Given the description of an element on the screen output the (x, y) to click on. 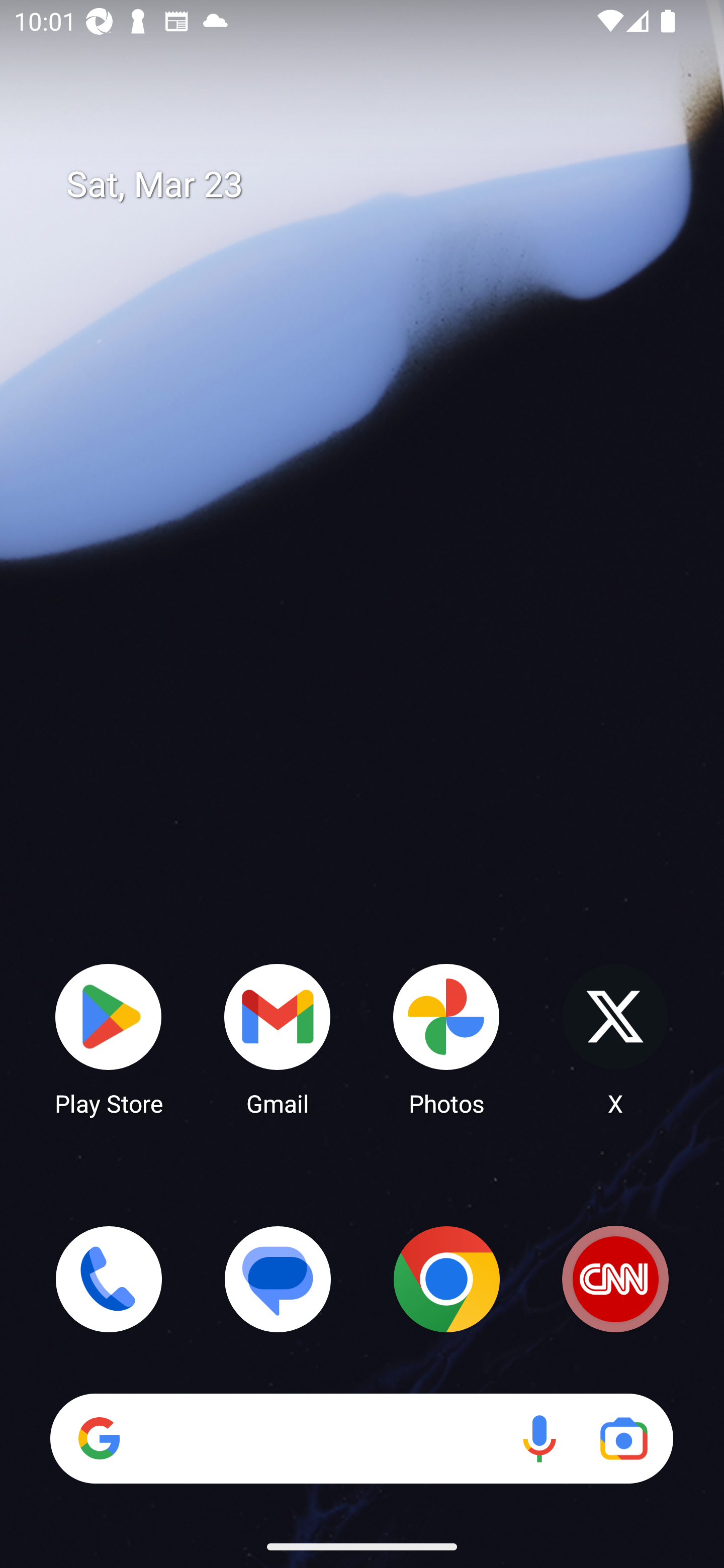
Sat, Mar 23 (375, 184)
Play Store (108, 1038)
Gmail (277, 1038)
Photos (445, 1038)
X (615, 1038)
Phone (108, 1279)
Messages (277, 1279)
Chrome (446, 1279)
CNN Predicted app: CNN (615, 1279)
Voice search (539, 1438)
Google Lens (623, 1438)
